Given the description of an element on the screen output the (x, y) to click on. 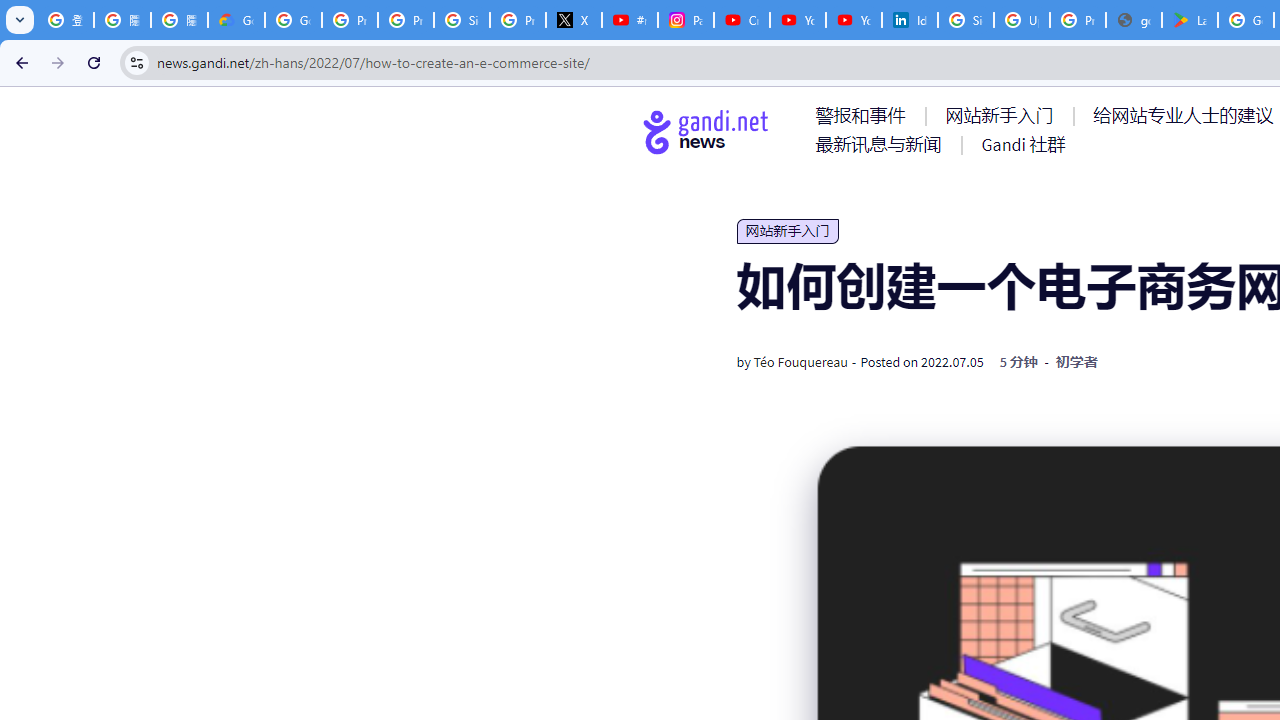
Google Cloud Privacy Notice (235, 20)
#nbabasketballhighlights - YouTube (629, 20)
Privacy Help Center - Policies Help (349, 20)
AutomationID: menu-item-77767 (1022, 143)
AutomationID: menu-item-77761 (863, 115)
